Given the description of an element on the screen output the (x, y) to click on. 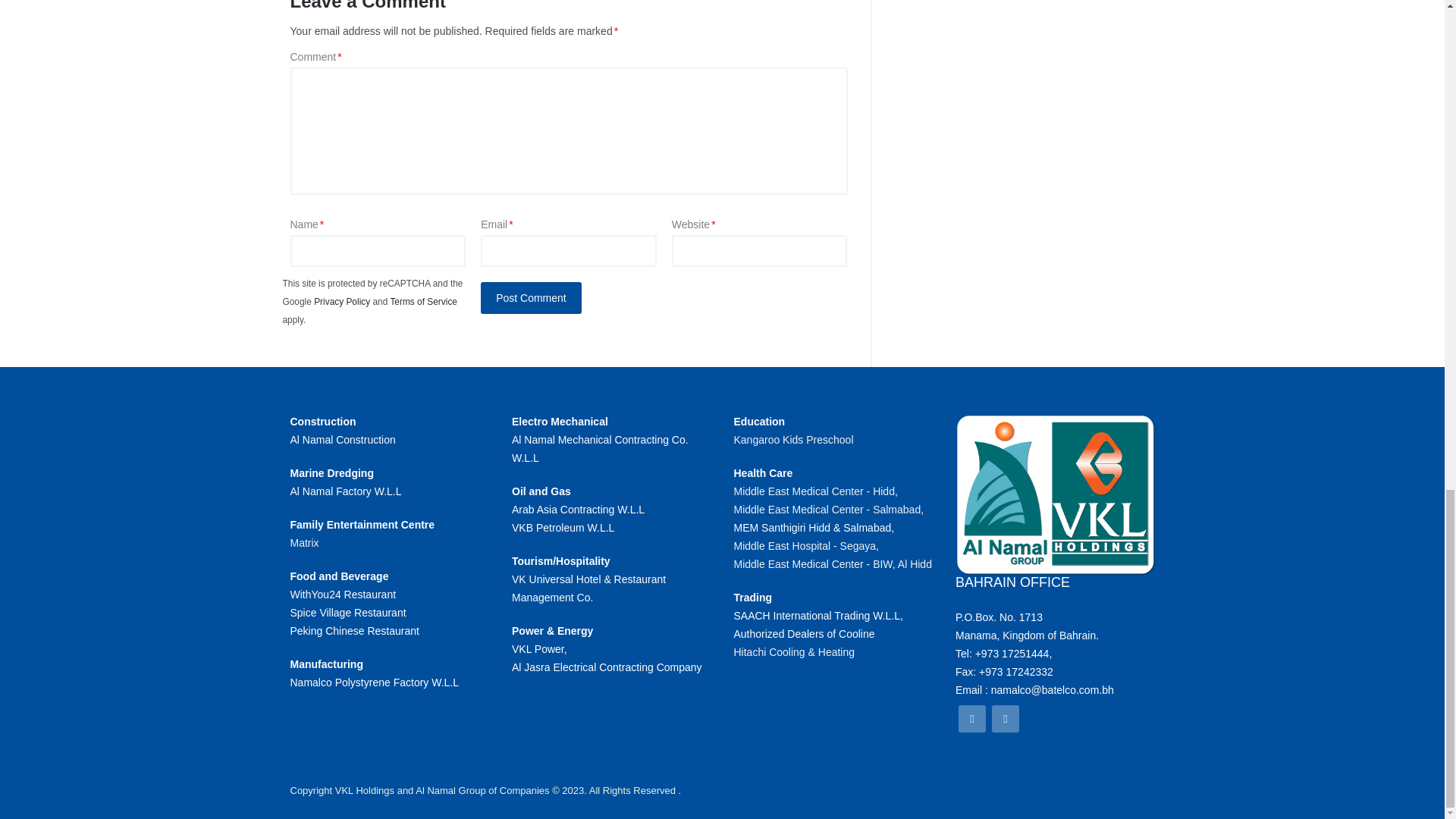
Post Comment (530, 297)
